Given the description of an element on the screen output the (x, y) to click on. 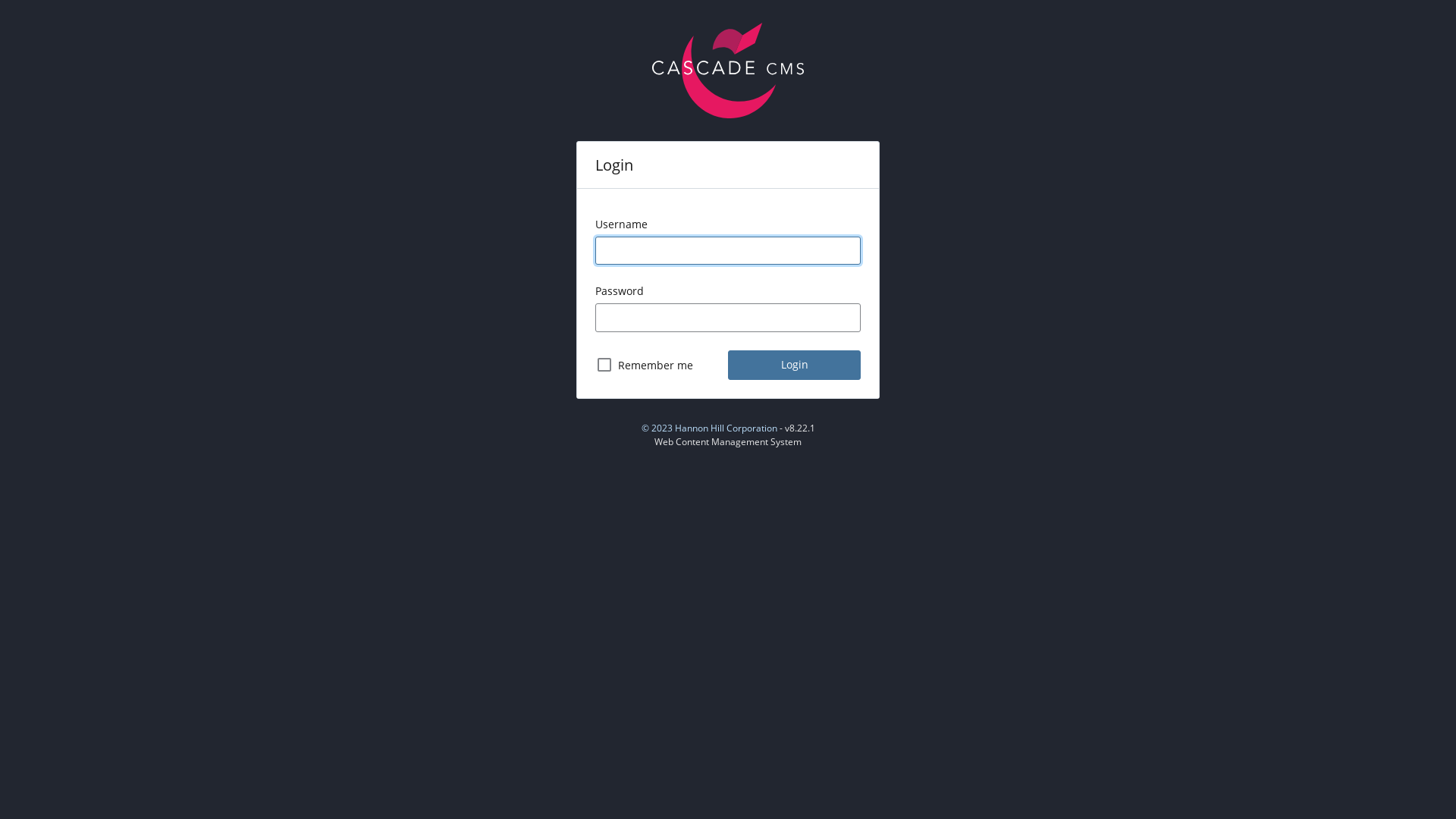
Login Element type: text (794, 364)
